Given the description of an element on the screen output the (x, y) to click on. 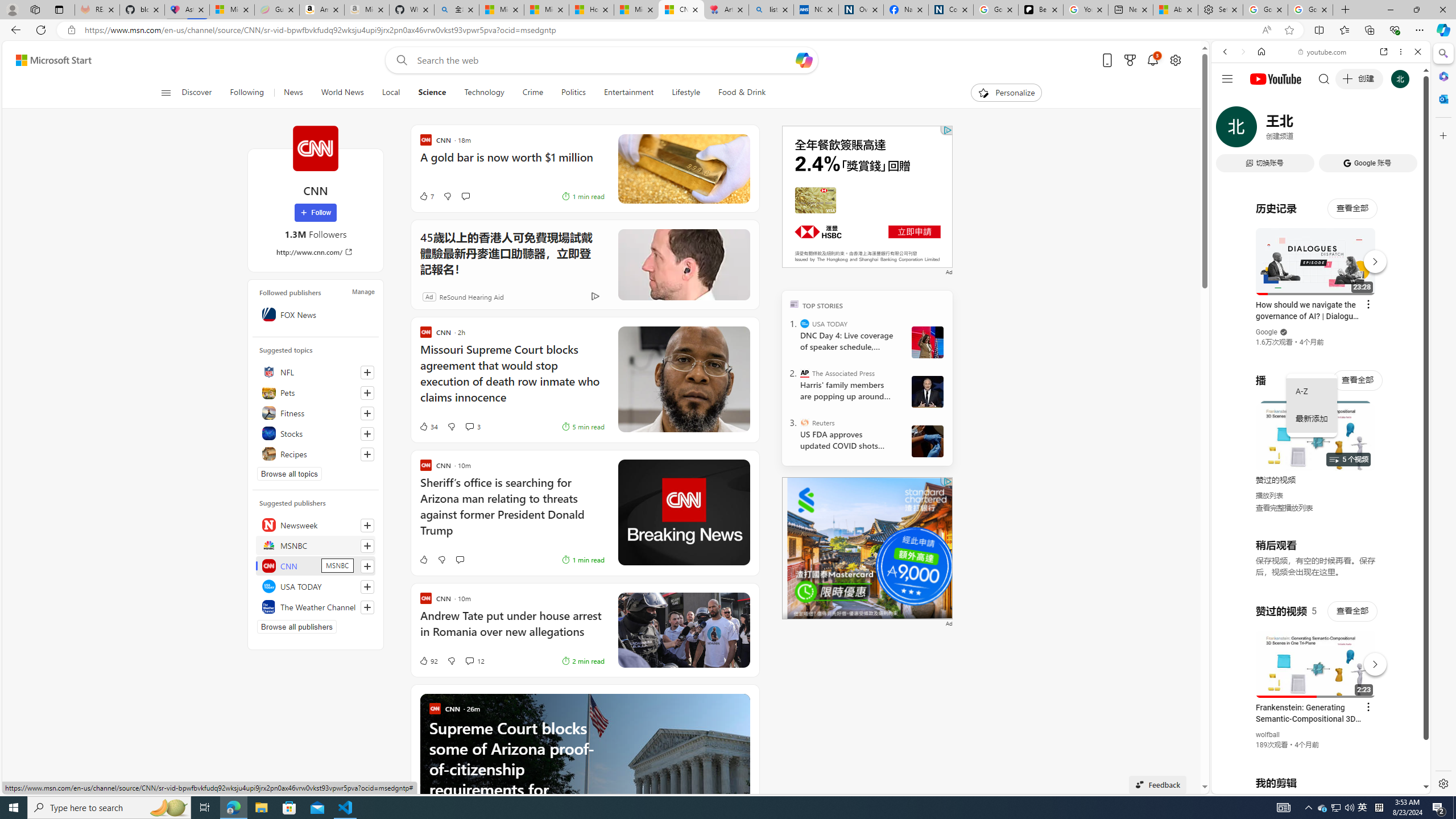
Like (422, 559)
Recipes (315, 453)
youtube.com (1322, 51)
list of asthma inhalers uk - Search (770, 9)
ReSound Hearing Aid (471, 296)
